Given the description of an element on the screen output the (x, y) to click on. 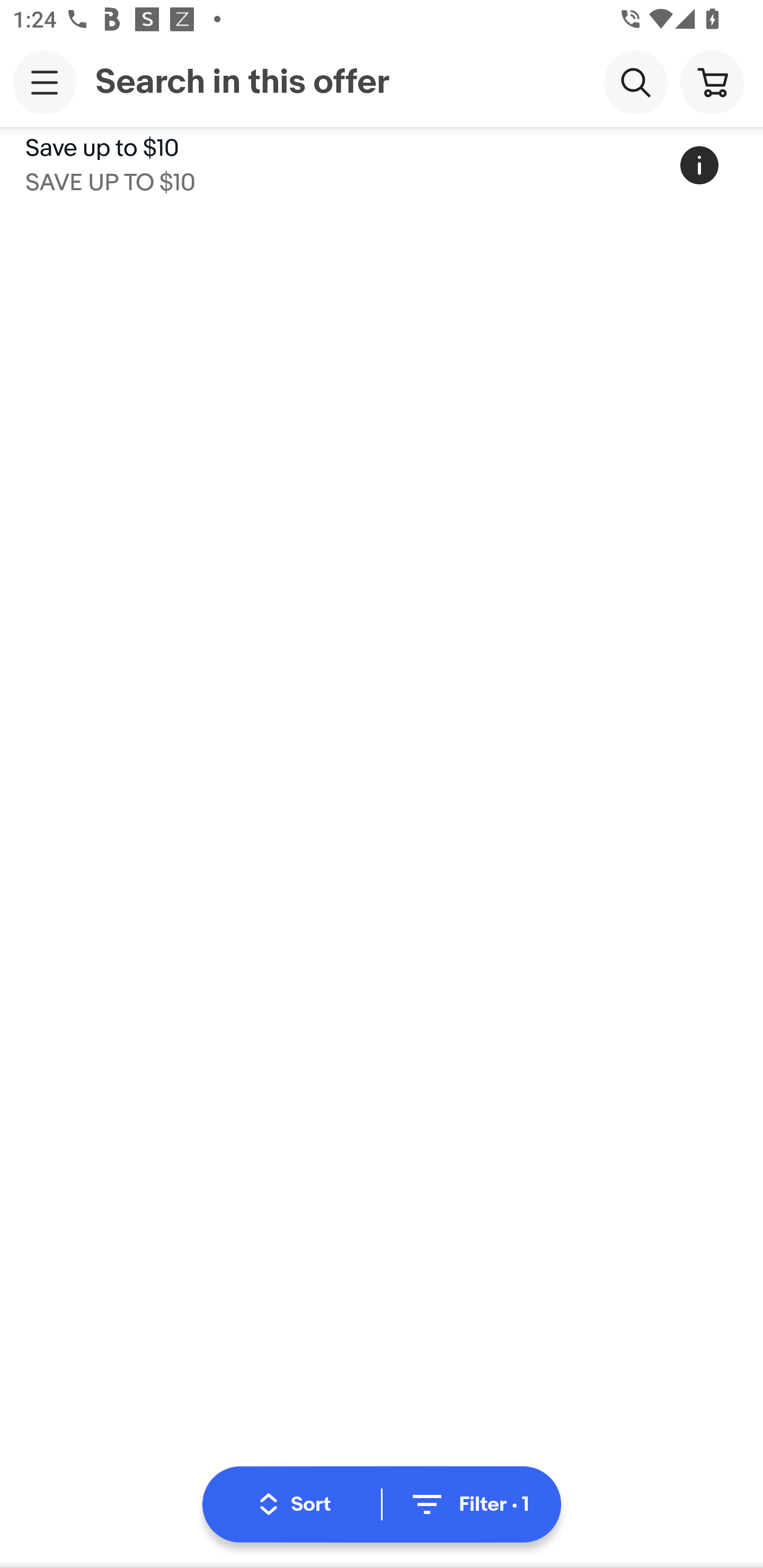
Main navigation, open (44, 82)
Search (635, 81)
Cart button shopping cart (711, 81)
More information regarding this promotion, button (699, 165)
SAVE UP TO $10 (110, 178)
Sort (294, 1504)
Filter • 1 (468, 1504)
